Given the description of an element on the screen output the (x, y) to click on. 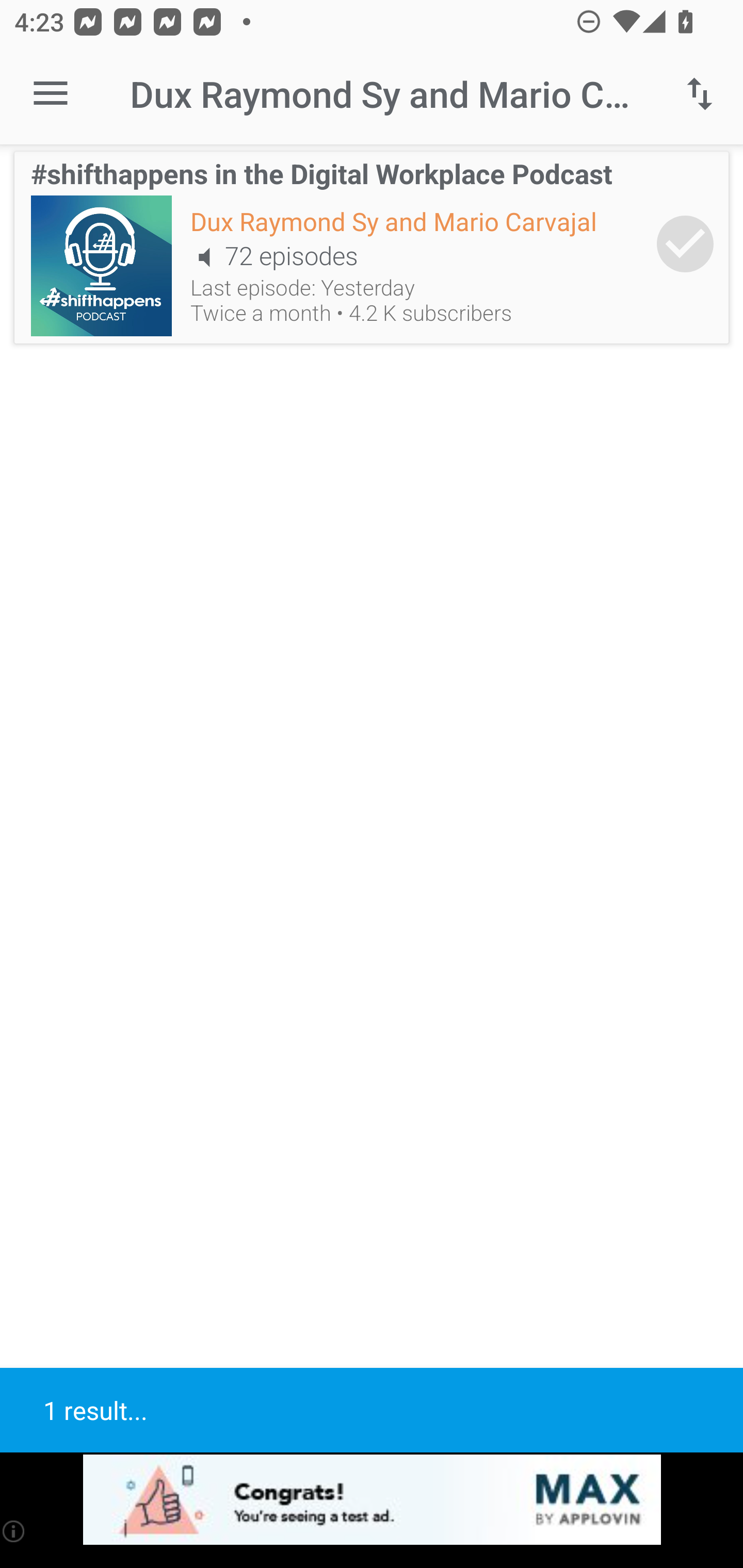
Open navigation sidebar (50, 93)
Sort (699, 93)
Add (684, 243)
app-monetization (371, 1500)
(i) (14, 1531)
